Given the description of an element on the screen output the (x, y) to click on. 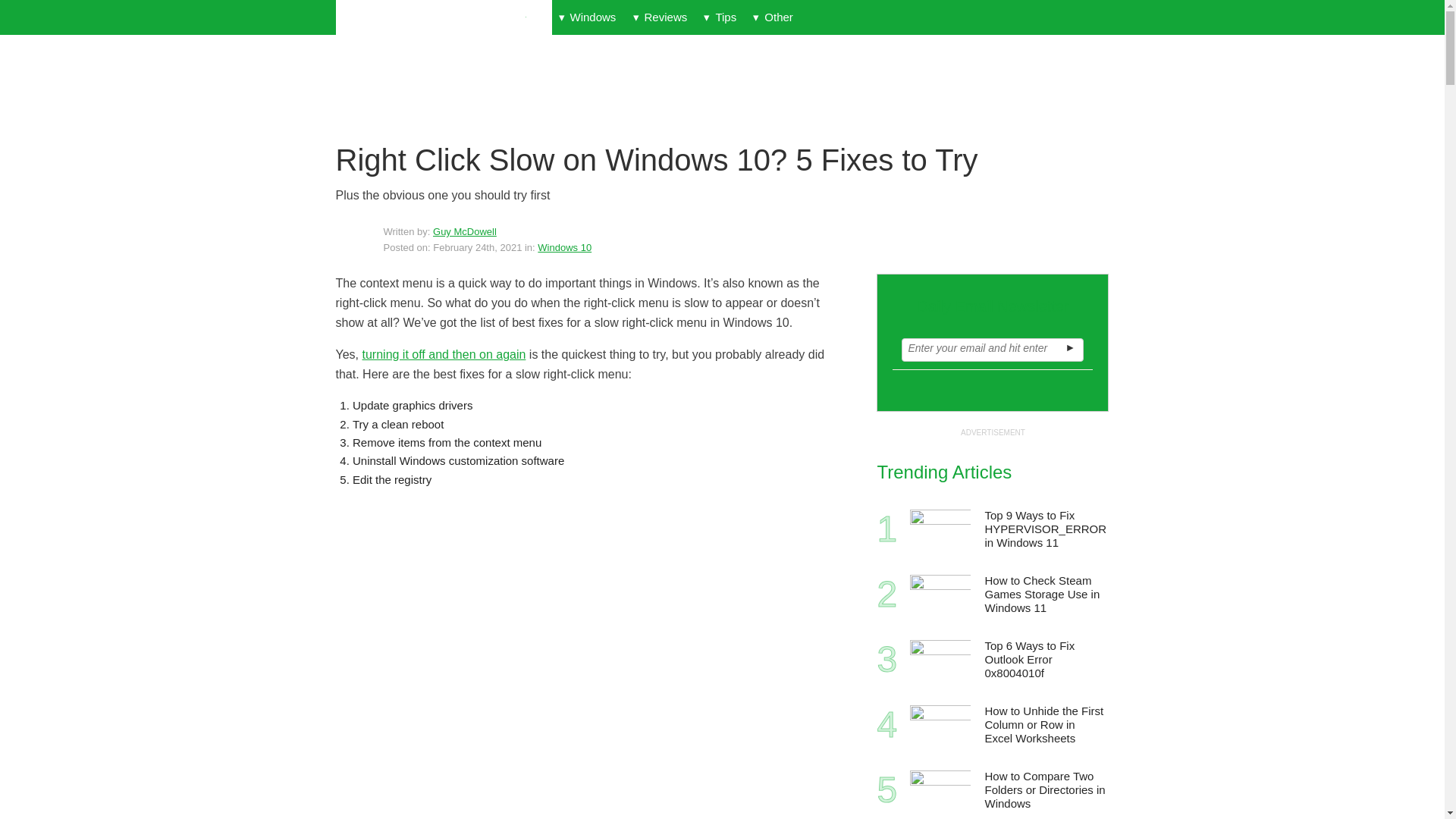
Top 6 Ways to Fix Outlook Error 0x8004010f (940, 659)
How to Unhide the First Column or Row in Excel Worksheets (1044, 724)
Tips (719, 17)
Reviews (660, 17)
Windows (587, 17)
Help Desk Geek (443, 17)
How to Compare Two Folders or Directories in Windows (940, 789)
How to Unhide the First Column or Row in Excel Worksheets (940, 724)
Other (772, 17)
How to Compare Two Folders or Directories in Windows (1044, 790)
